Given the description of an element on the screen output the (x, y) to click on. 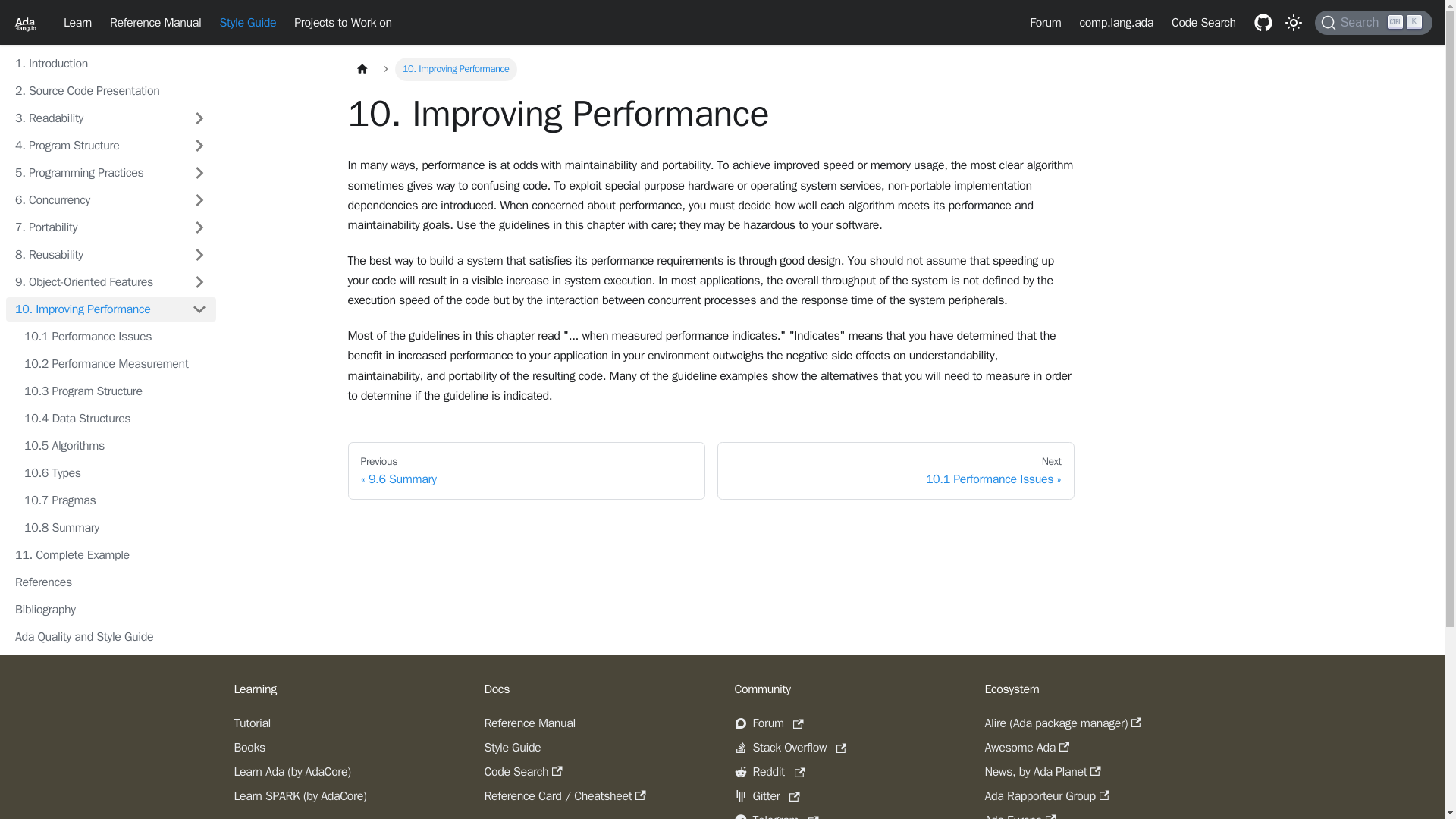
10.5 Algorithms (114, 445)
Projects to Work on (343, 22)
4. Program Structure (94, 145)
3. Readability (94, 118)
Learn (77, 22)
10.6 Types (114, 473)
10.7 Pragmas (114, 500)
Style Guide (247, 22)
5. Programming Practices (1373, 22)
10.1 Performance Issues (94, 172)
Reference Manual (114, 336)
comp.lang.ada (154, 22)
2. Source Code Presentation (1115, 22)
1. Introduction (110, 90)
